Given the description of an element on the screen output the (x, y) to click on. 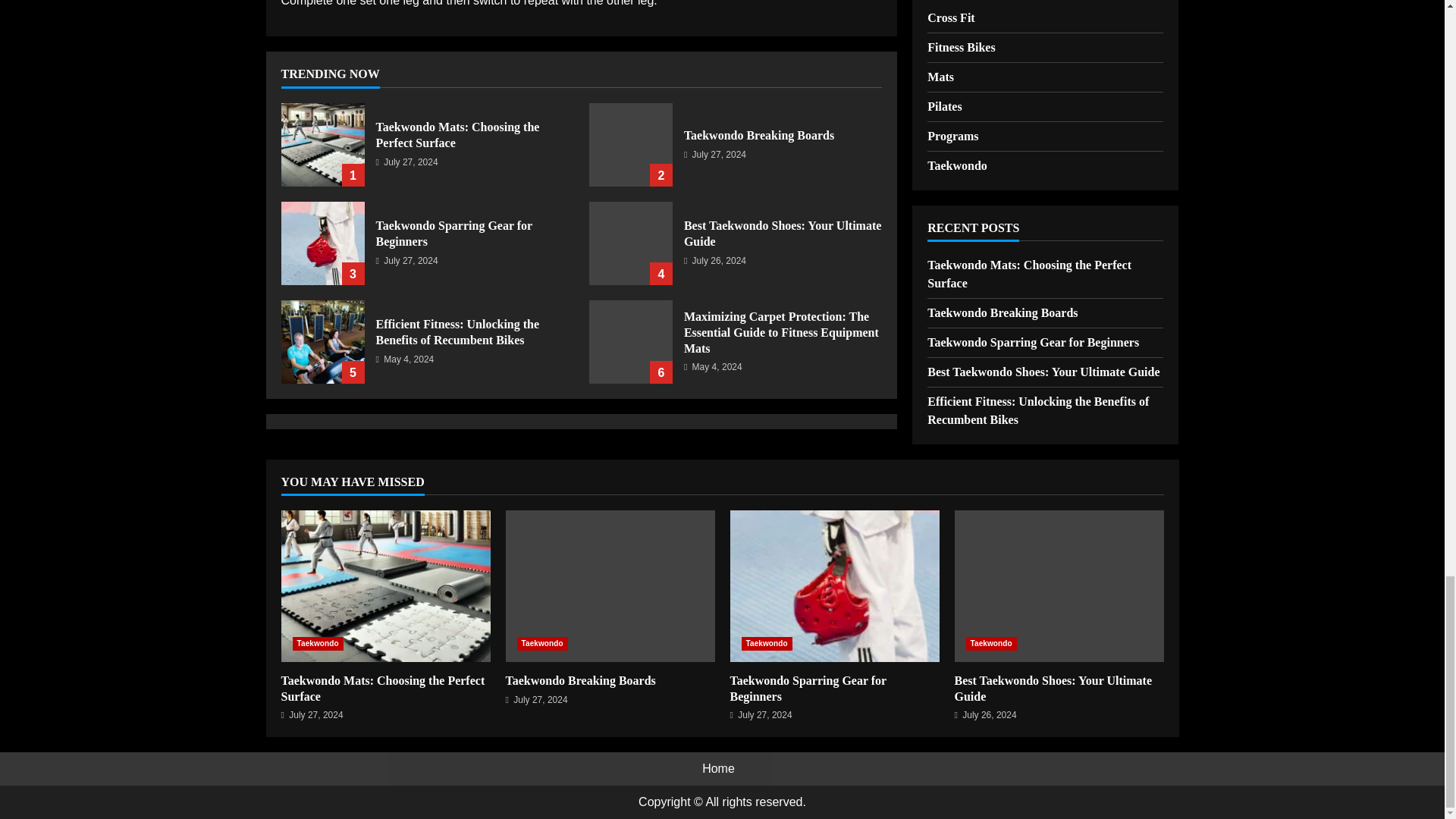
Taekwondo Mats: Choosing the Perfect Surface (457, 134)
Taekwondo Sparring Gear for Beginners (453, 233)
Taekwondo Sparring Gear for Beginners (322, 243)
Best Taekwondo Shoes: Your Ultimate Guide (630, 243)
Taekwondo Mats: Choosing the Perfect Surface (382, 688)
Taekwondo Breaking Boards (630, 144)
Taekwondo (541, 643)
Efficient Fitness: Unlocking the Benefits of Recumbent Bikes (457, 331)
